Given the description of an element on the screen output the (x, y) to click on. 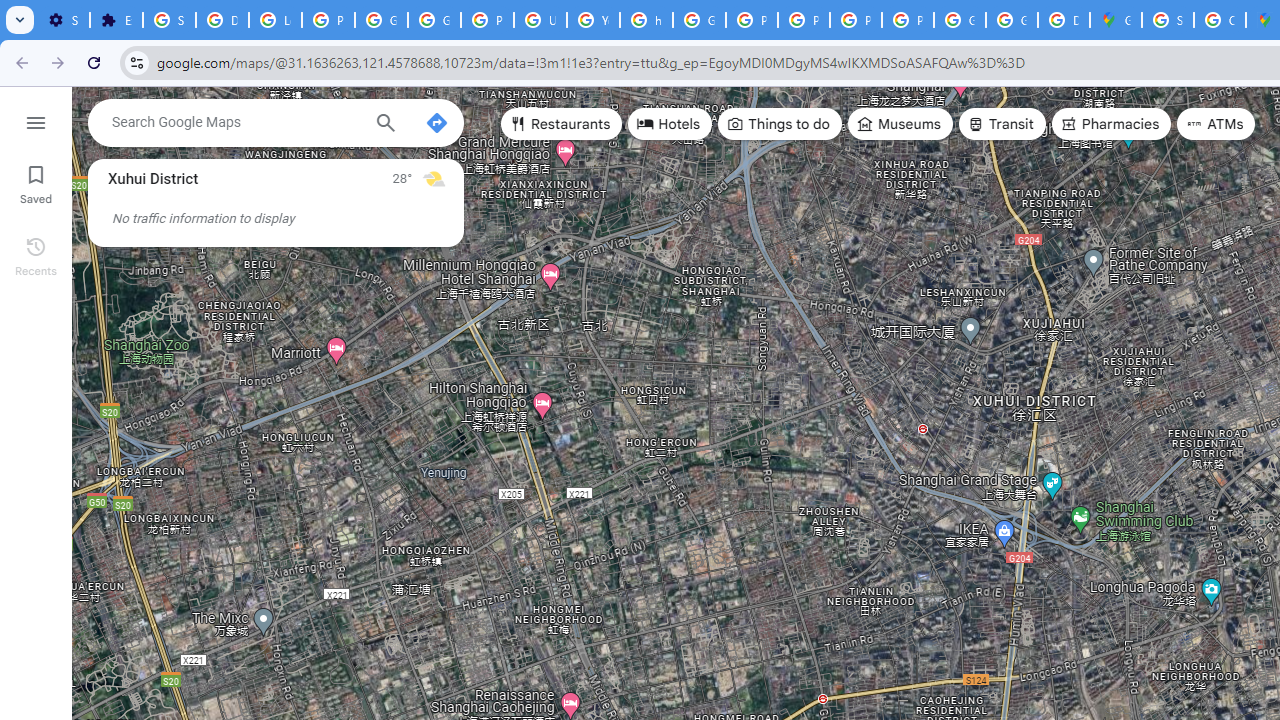
Extensions (116, 20)
Pharmacies (1111, 124)
https://scholar.google.com/ (646, 20)
YouTube (593, 20)
Recents (35, 254)
Delete photos & videos - Computer - Google Photos Help (222, 20)
Create your Google Account (1219, 20)
Saved (35, 182)
